Given the description of an element on the screen output the (x, y) to click on. 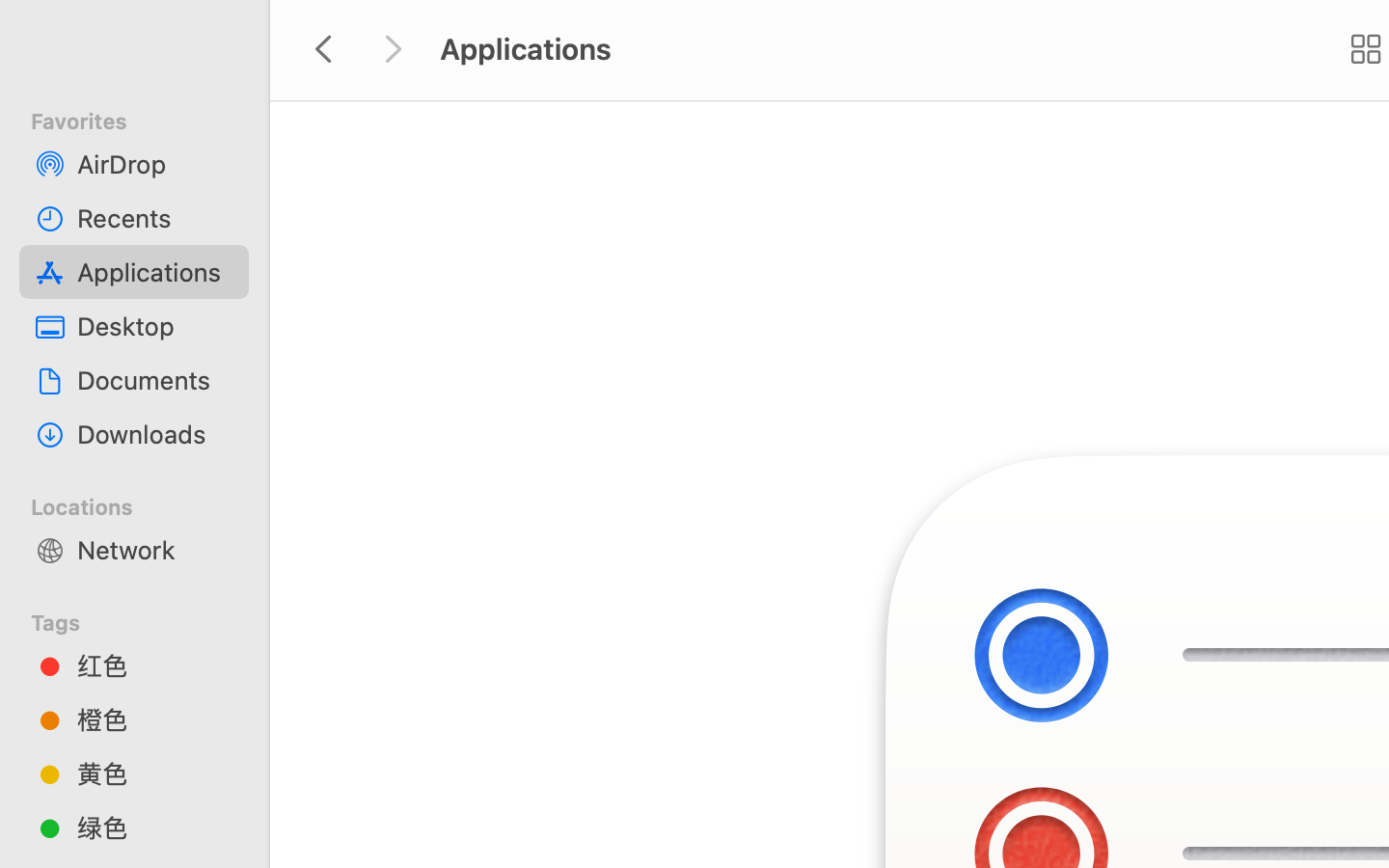
Network Element type: AXStaticText (155, 549)
Recents Element type: AXStaticText (155, 217)
Tags Element type: AXStaticText (145, 619)
Applications Element type: AXStaticText (155, 271)
绿色 Element type: AXStaticText (155, 827)
